Given the description of an element on the screen output the (x, y) to click on. 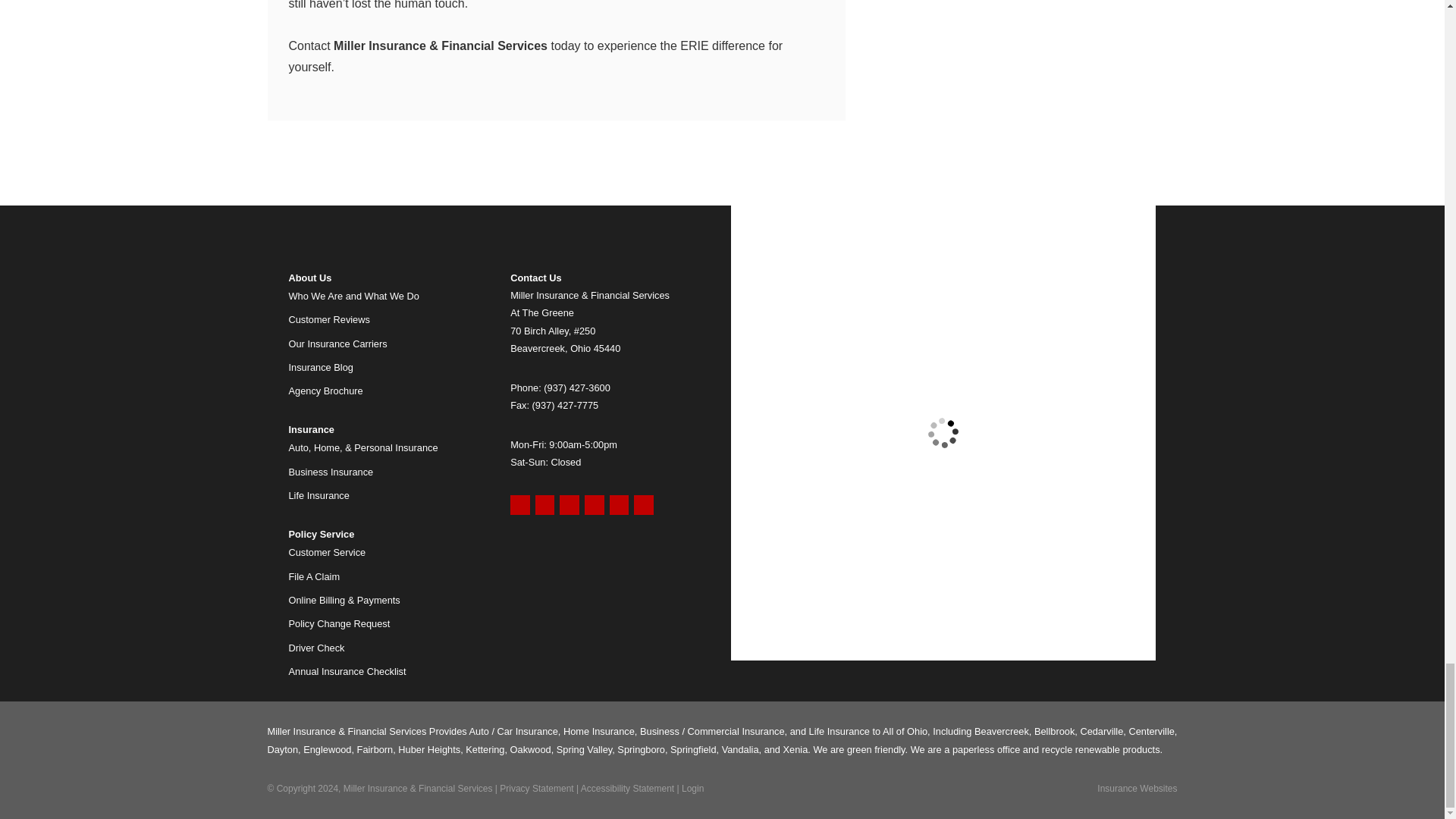
LinkedIn (619, 505)
X (594, 505)
Google Maps (520, 505)
Instagram (643, 505)
Yelp (544, 505)
Facebook (569, 505)
